Given the description of an element on the screen output the (x, y) to click on. 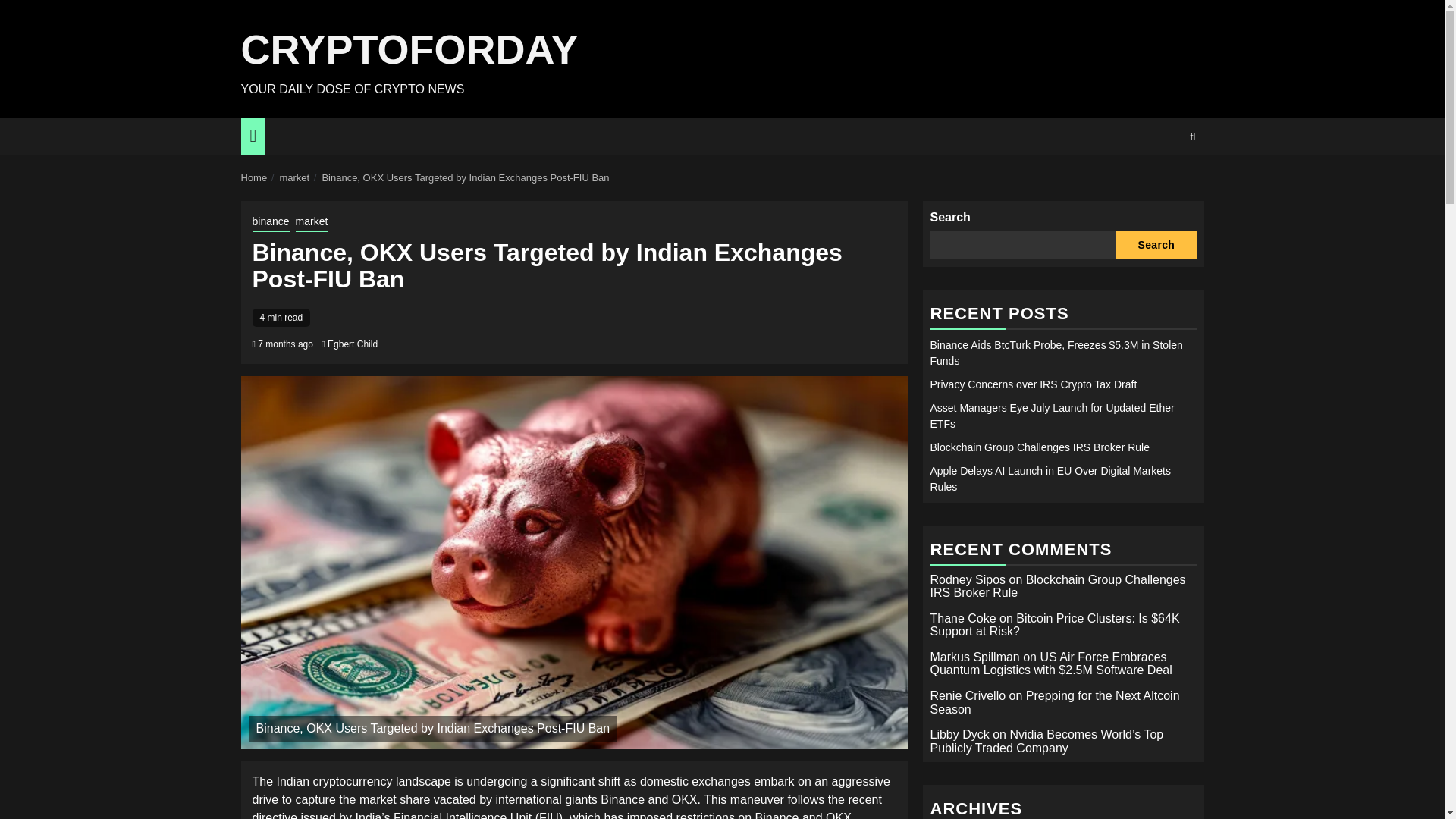
Search (1163, 182)
Binance, OKX Users Targeted by Indian Exchanges Post-FIU Ban (464, 177)
Egbert Child (352, 344)
CRYPTOFORDAY (409, 49)
market (293, 177)
binance (269, 222)
market (312, 222)
Home (254, 177)
